Given the description of an element on the screen output the (x, y) to click on. 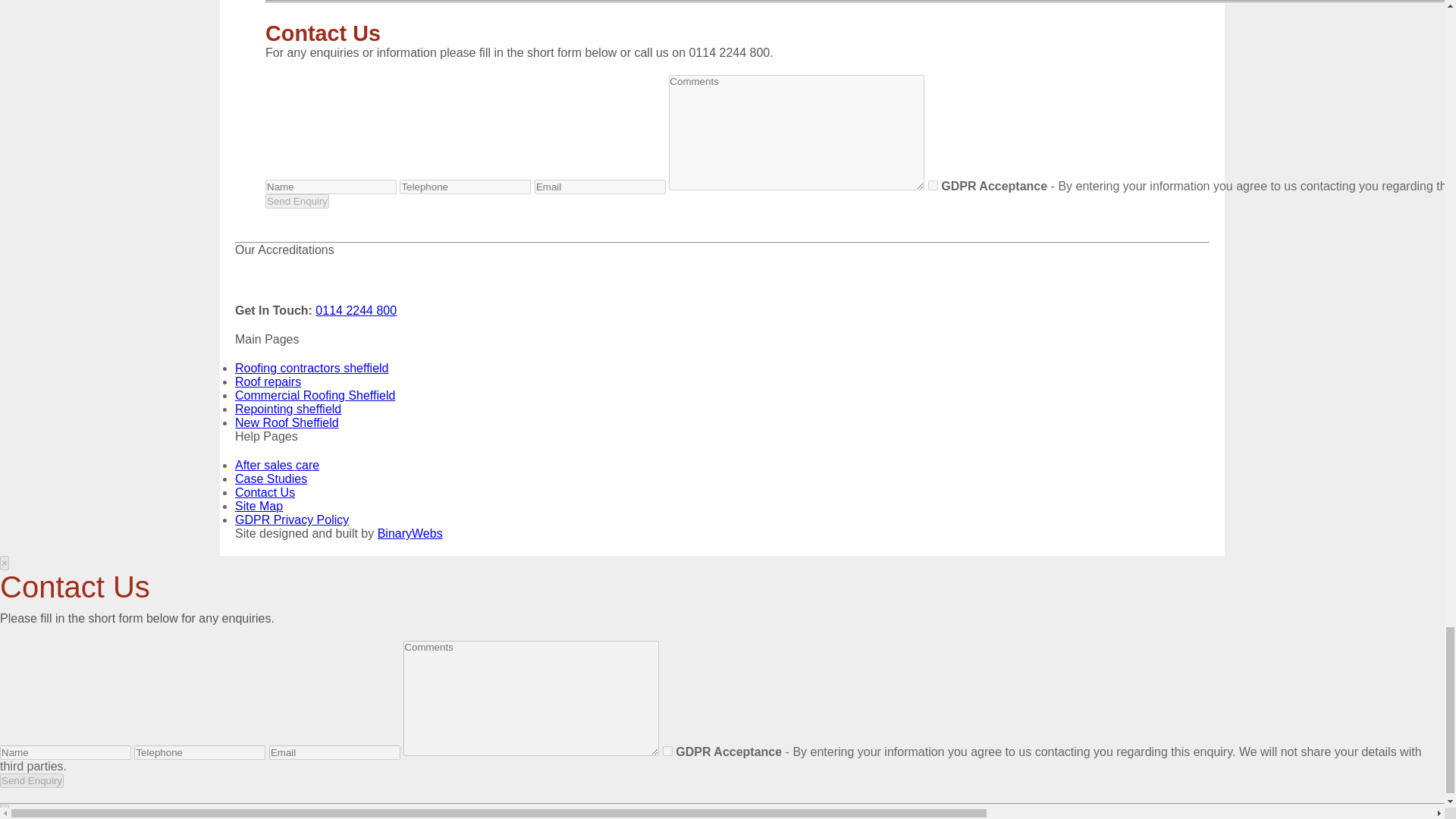
yes (932, 185)
Send Enquiry (296, 201)
yes (667, 750)
Send Enquiry (32, 780)
Send Enquiry (296, 201)
